Given the description of an element on the screen output the (x, y) to click on. 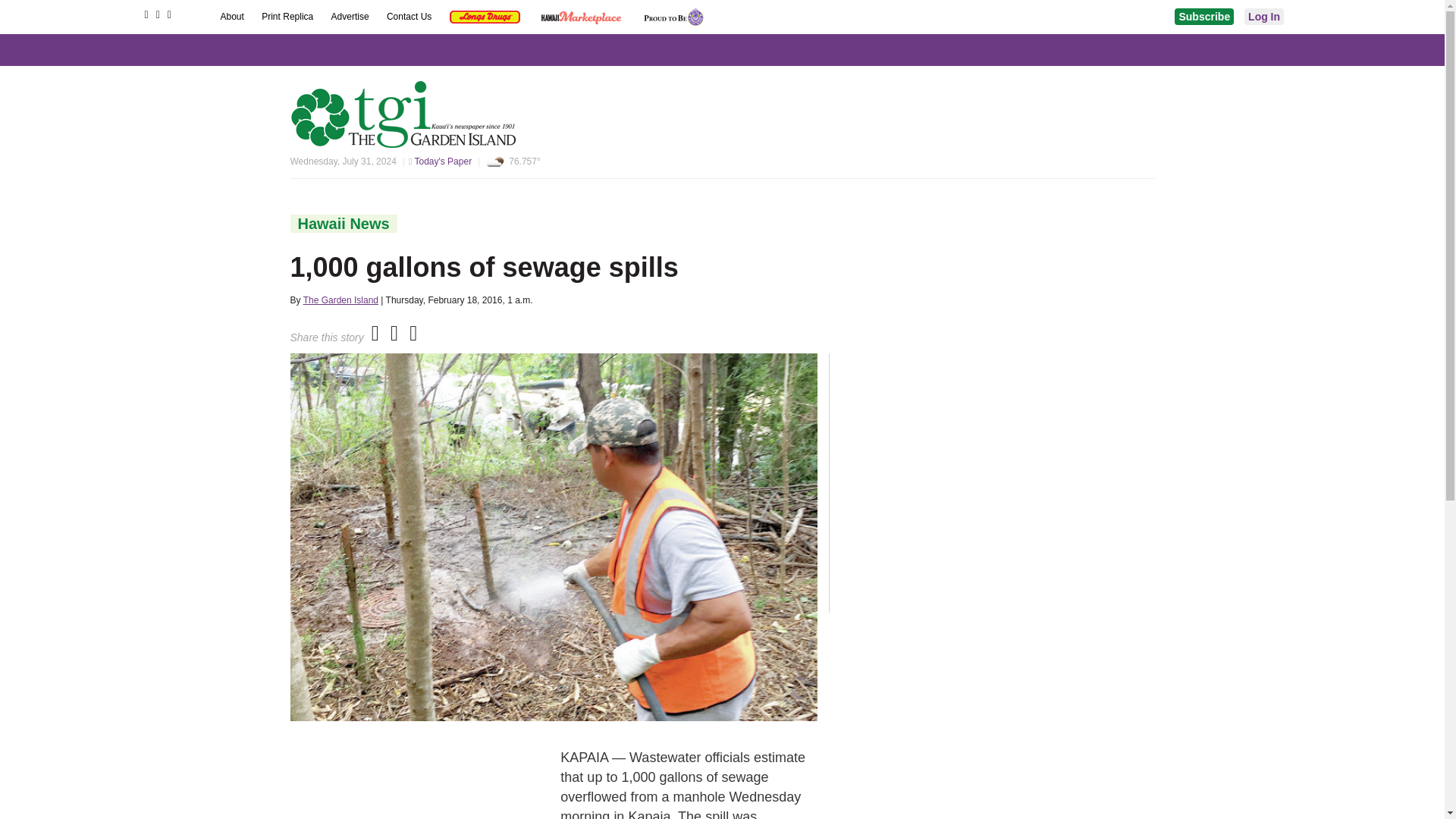
About (232, 16)
Subscribe (1203, 16)
Advertise (351, 16)
Log In (1264, 16)
Print Replica (288, 16)
Contact Us (410, 16)
